Given the description of an element on the screen output the (x, y) to click on. 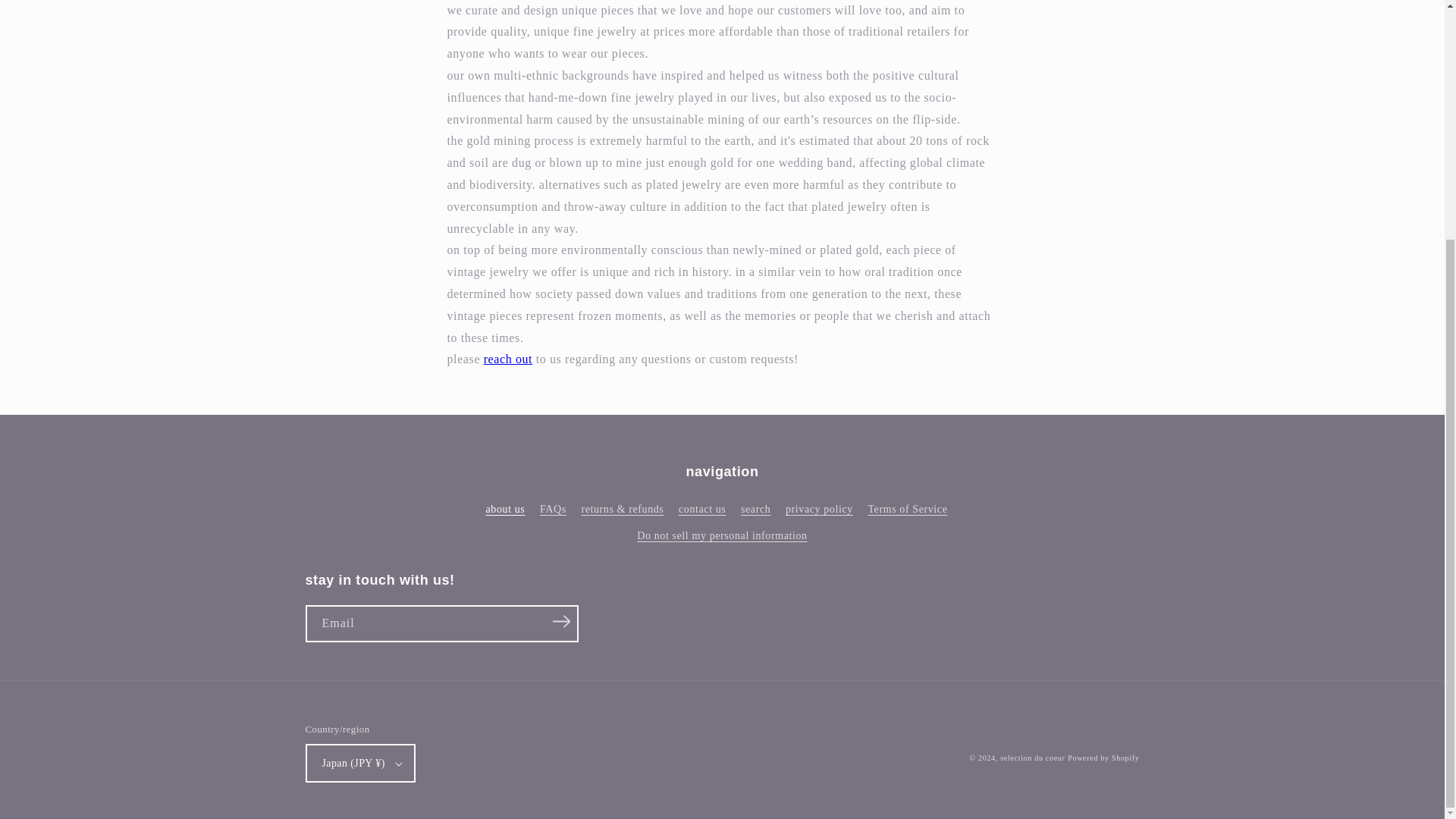
contact us (507, 358)
